Given the description of an element on the screen output the (x, y) to click on. 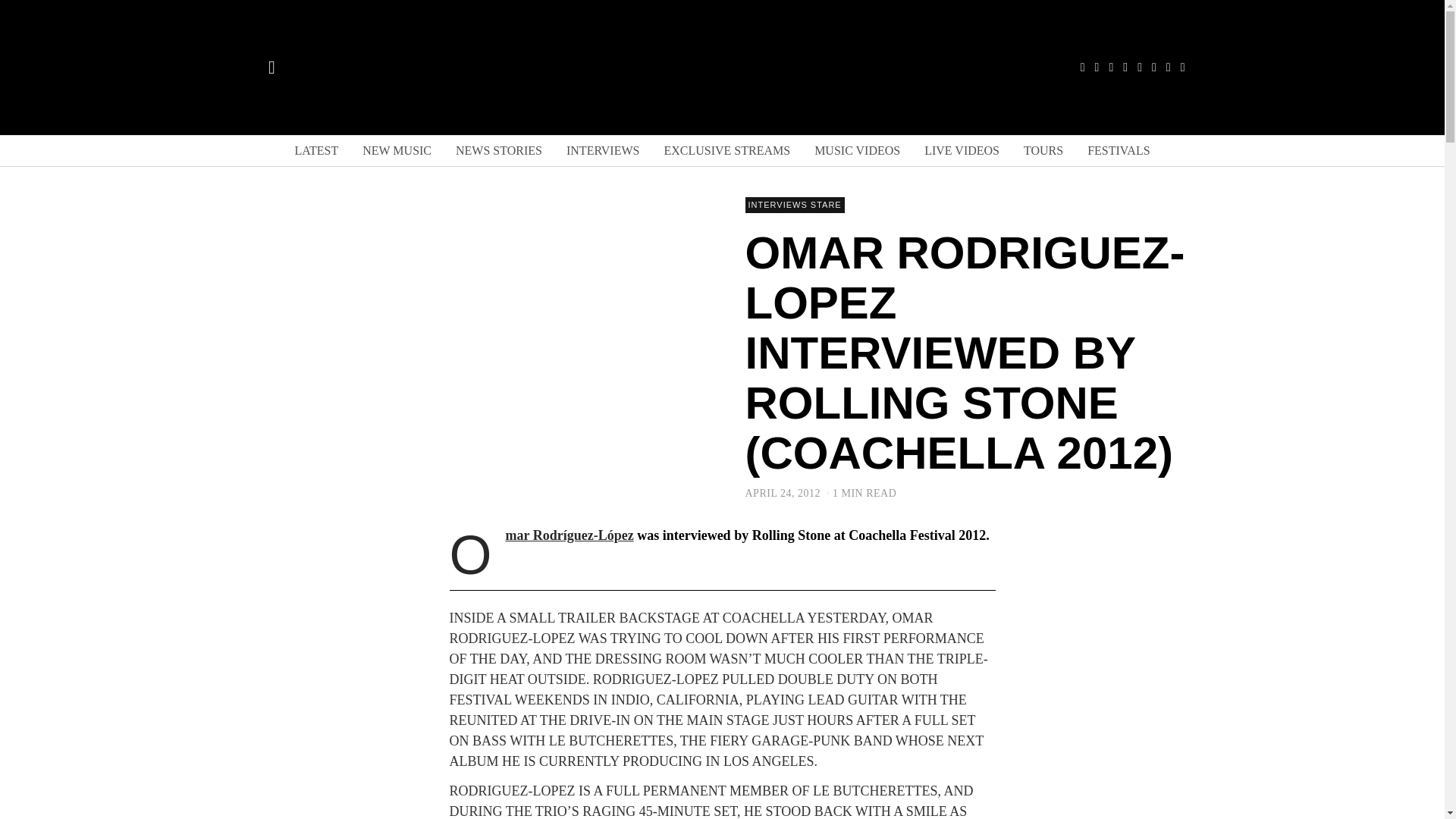
NEW MUSIC (397, 150)
MUSIC VIDEOS (857, 150)
LATEST (316, 150)
EXCLUSIVE STREAMS (726, 150)
INTERVIEWS (602, 150)
LIVE VIDEOS (962, 150)
TOURS (1043, 150)
NEWS STORIES (499, 150)
FESTIVALS (1118, 150)
Latest Articles from All Categories (316, 150)
